Given the description of an element on the screen output the (x, y) to click on. 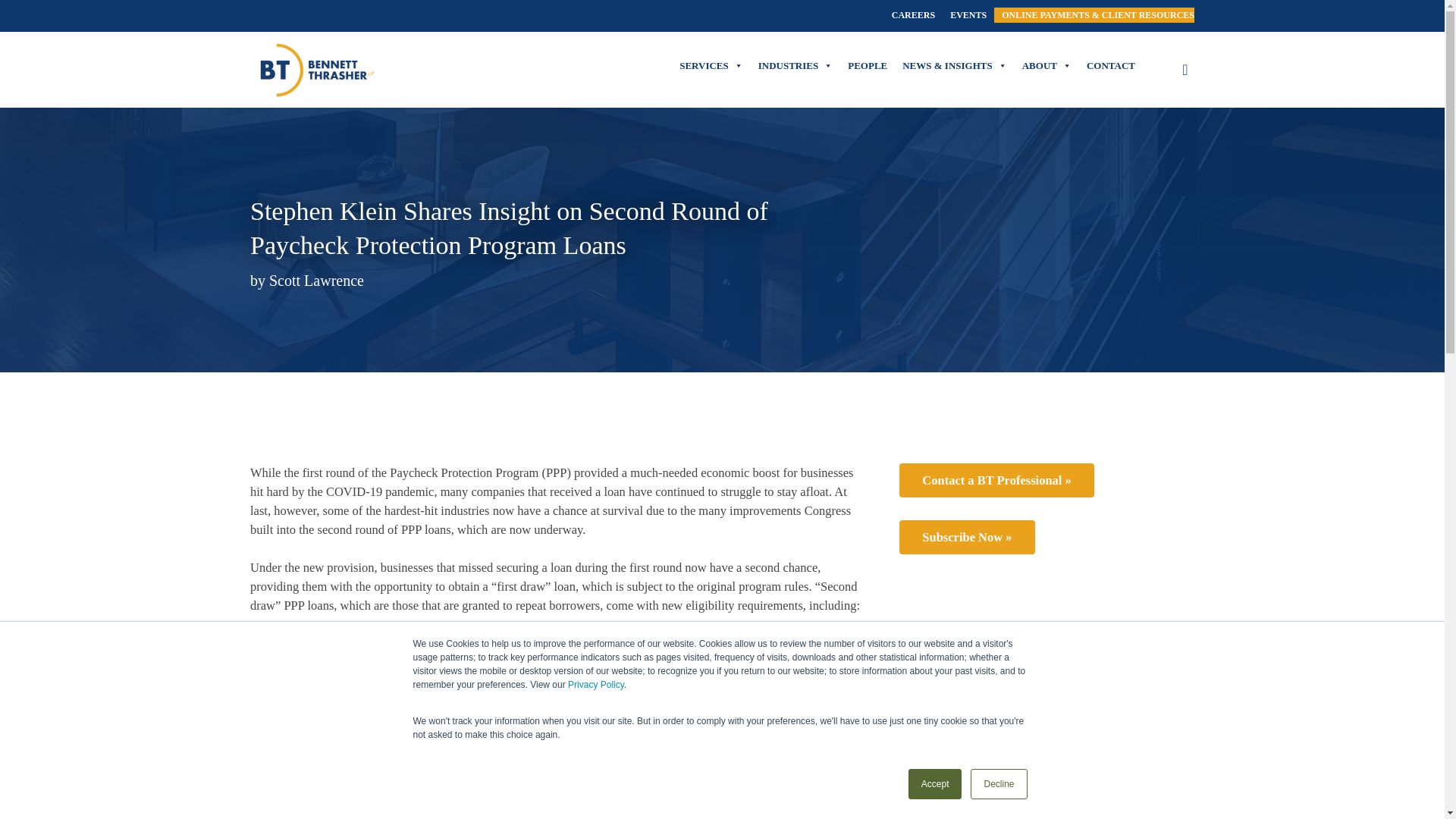
Accept (935, 784)
Decline (998, 784)
CAREERS (912, 14)
EVENTS (968, 14)
SERVICES (711, 65)
Privacy Policy (595, 684)
